Given the description of an element on the screen output the (x, y) to click on. 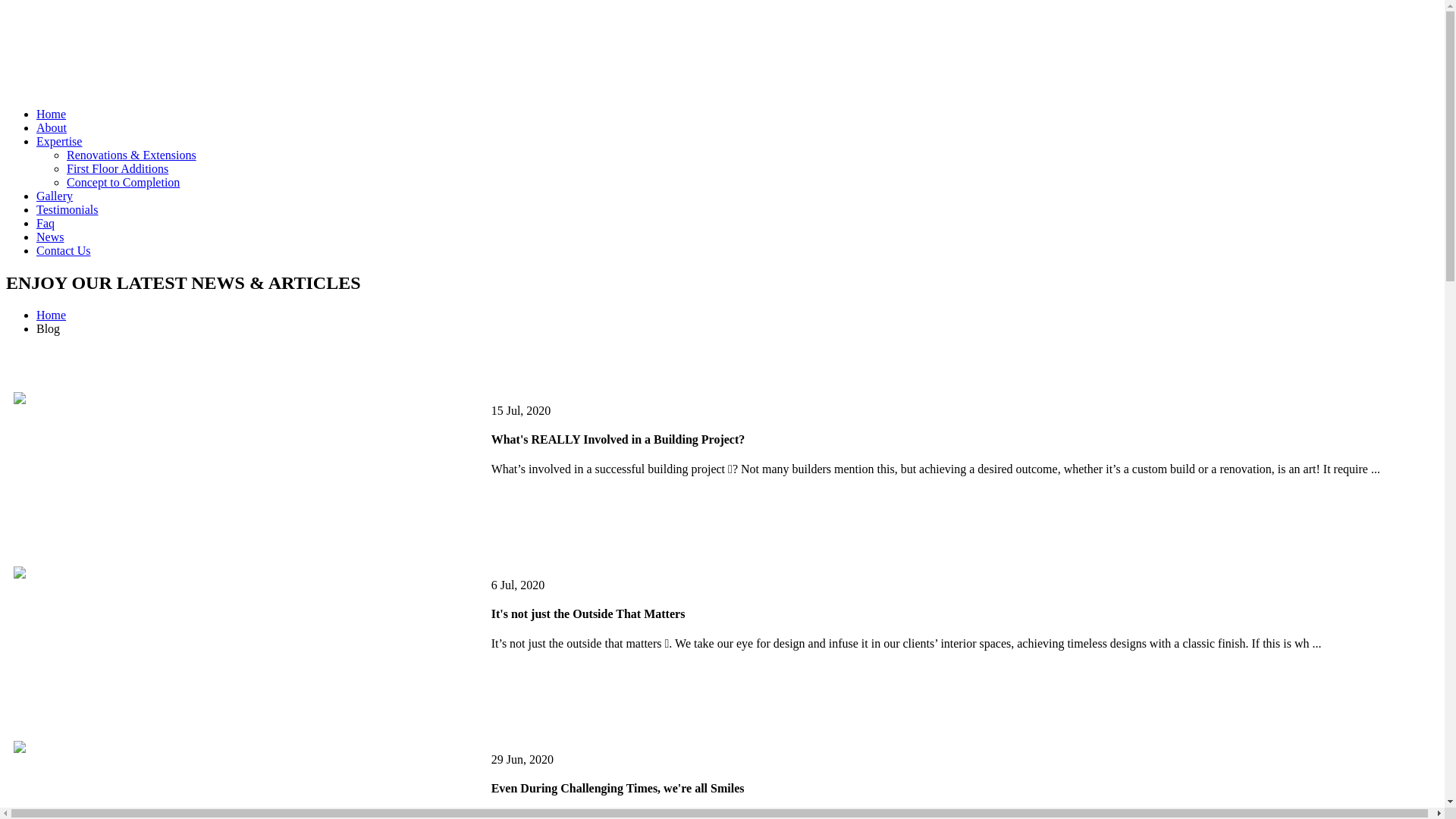
Renovations & Extensions Element type: text (131, 154)
Home Element type: text (50, 314)
Concept to Completion Element type: text (122, 181)
Expertise Element type: text (58, 140)
News Element type: text (49, 236)
Contact Us Element type: text (63, 250)
Gallery Element type: text (54, 195)
First Floor Additions Element type: text (117, 168)
Testimonials Element type: text (67, 209)
Home Element type: text (50, 113)
About Element type: text (51, 127)
Faq Element type: text (45, 222)
